Given the description of an element on the screen output the (x, y) to click on. 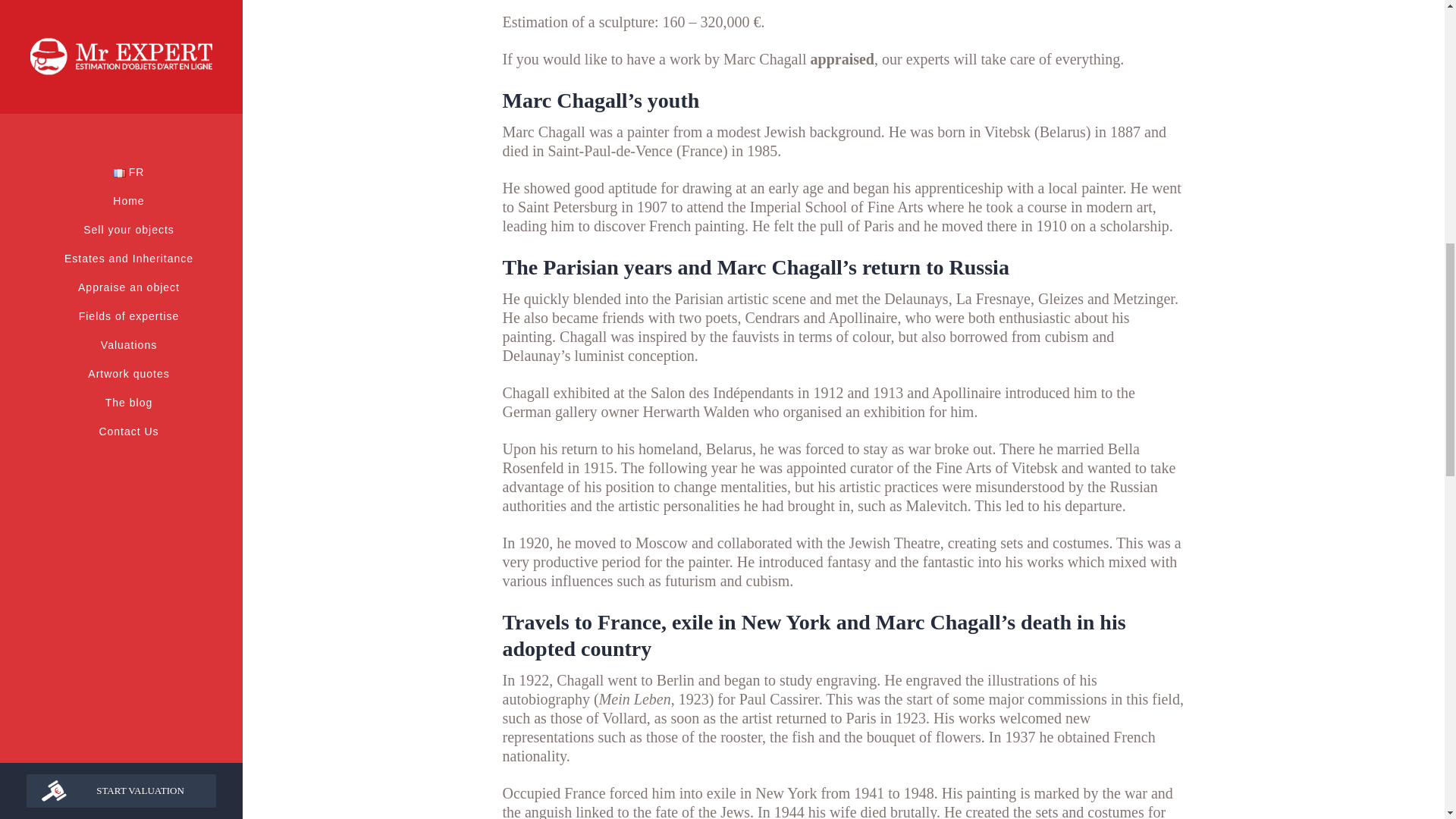
sculpture (625, 21)
